Given the description of an element on the screen output the (x, y) to click on. 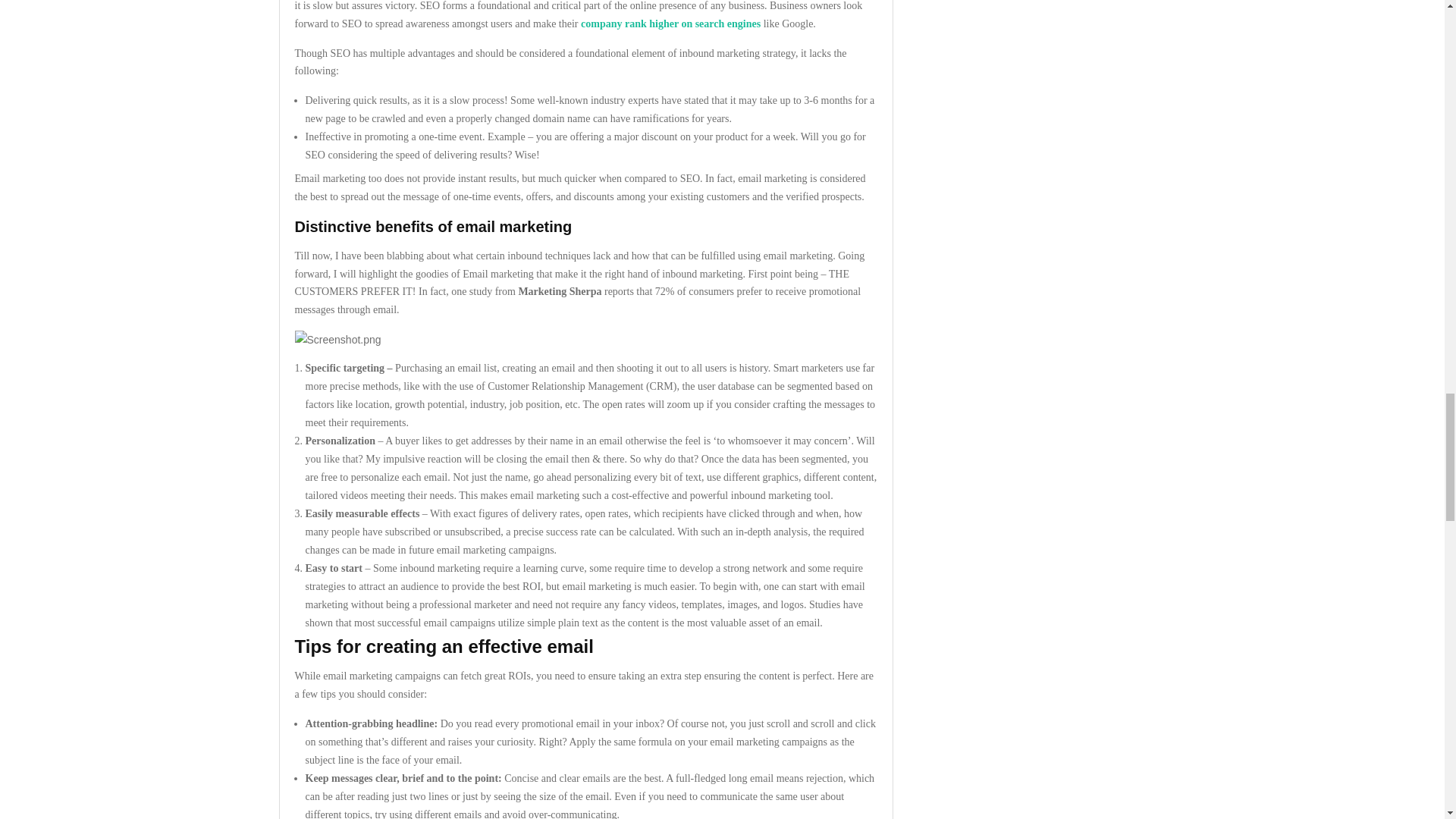
company rank higher on search engines (670, 23)
